Given the description of an element on the screen output the (x, y) to click on. 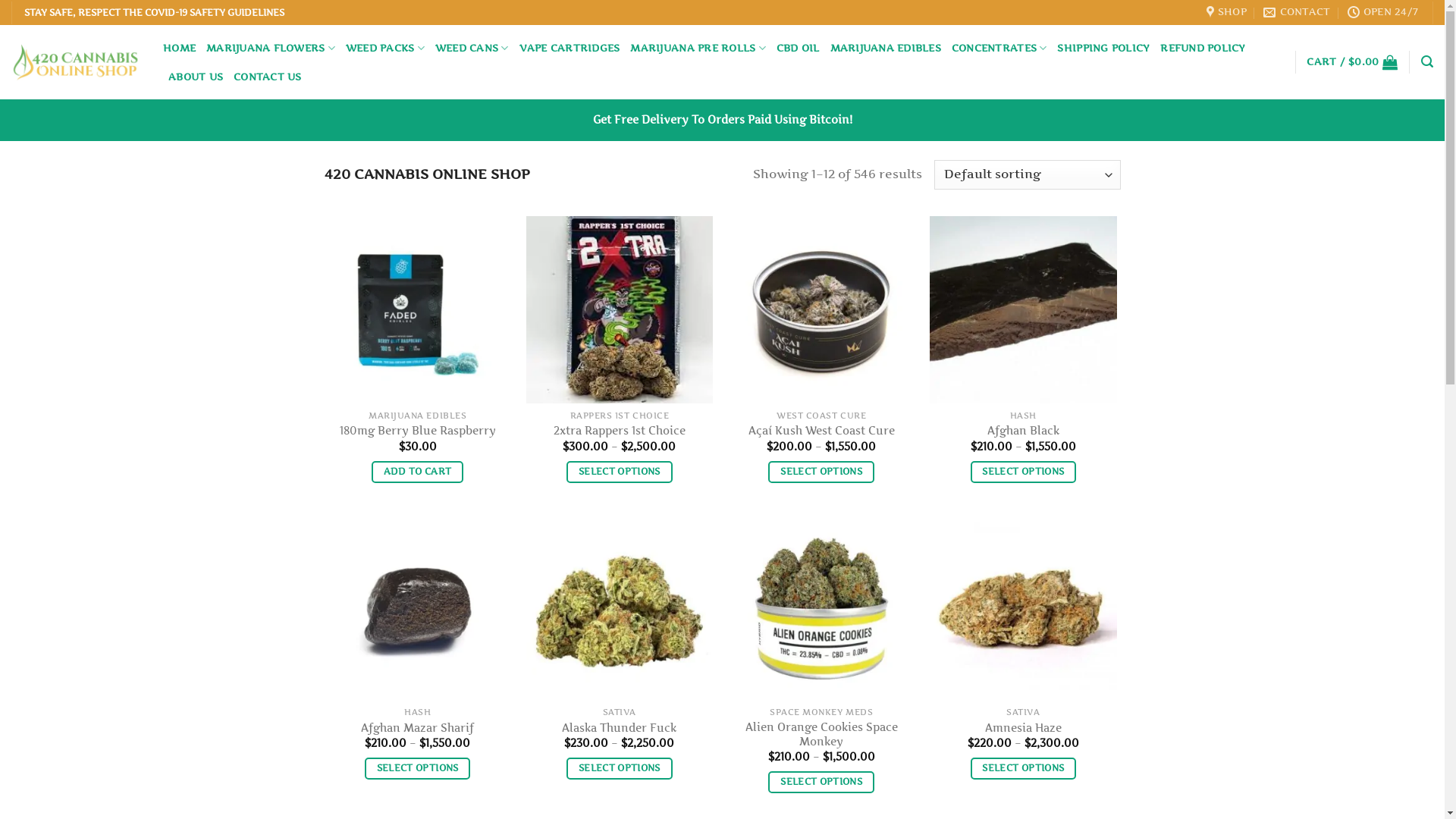
Alien Orange Cookies Space Monkey Element type: text (821, 734)
SELECT OPTIONS Element type: text (1023, 472)
Afghan Mazar Sharif Element type: text (416, 728)
SELECT OPTIONS Element type: text (618, 472)
CART / $0.00 Element type: text (1351, 61)
SHOP Element type: text (1226, 11)
SELECT OPTIONS Element type: text (1023, 768)
WEED PACKS Element type: text (384, 47)
SELECT OPTIONS Element type: text (820, 472)
180mg Berry Blue Raspberry Element type: text (417, 430)
OPEN 24/7 Element type: text (1382, 11)
WEED CANS Element type: text (471, 47)
2xtra Rappers 1st Choice Element type: text (619, 430)
Alaska Thunder Fuck Element type: text (618, 728)
SHIPPING POLICY Element type: text (1103, 48)
ADD TO CART Element type: text (417, 472)
CONCENTRATES Element type: text (999, 47)
VAPE CARTRIDGES Element type: text (569, 48)
SELECT OPTIONS Element type: text (820, 782)
Afghan Black Element type: text (1023, 430)
MARIJUANA PRE ROLLS Element type: text (697, 47)
CONTACT US Element type: text (267, 77)
ABOUT US Element type: text (195, 77)
REFUND POLICY Element type: text (1202, 48)
MARIJUANA EDIBLES Element type: text (885, 48)
CBD OIL Element type: text (797, 48)
MARIJUANA FLOWERS Element type: text (270, 47)
SELECT OPTIONS Element type: text (618, 768)
SELECT OPTIONS Element type: text (417, 768)
Amnesia Haze Element type: text (1023, 728)
CONTACT Element type: text (1296, 11)
HOME Element type: text (179, 48)
